Given the description of an element on the screen output the (x, y) to click on. 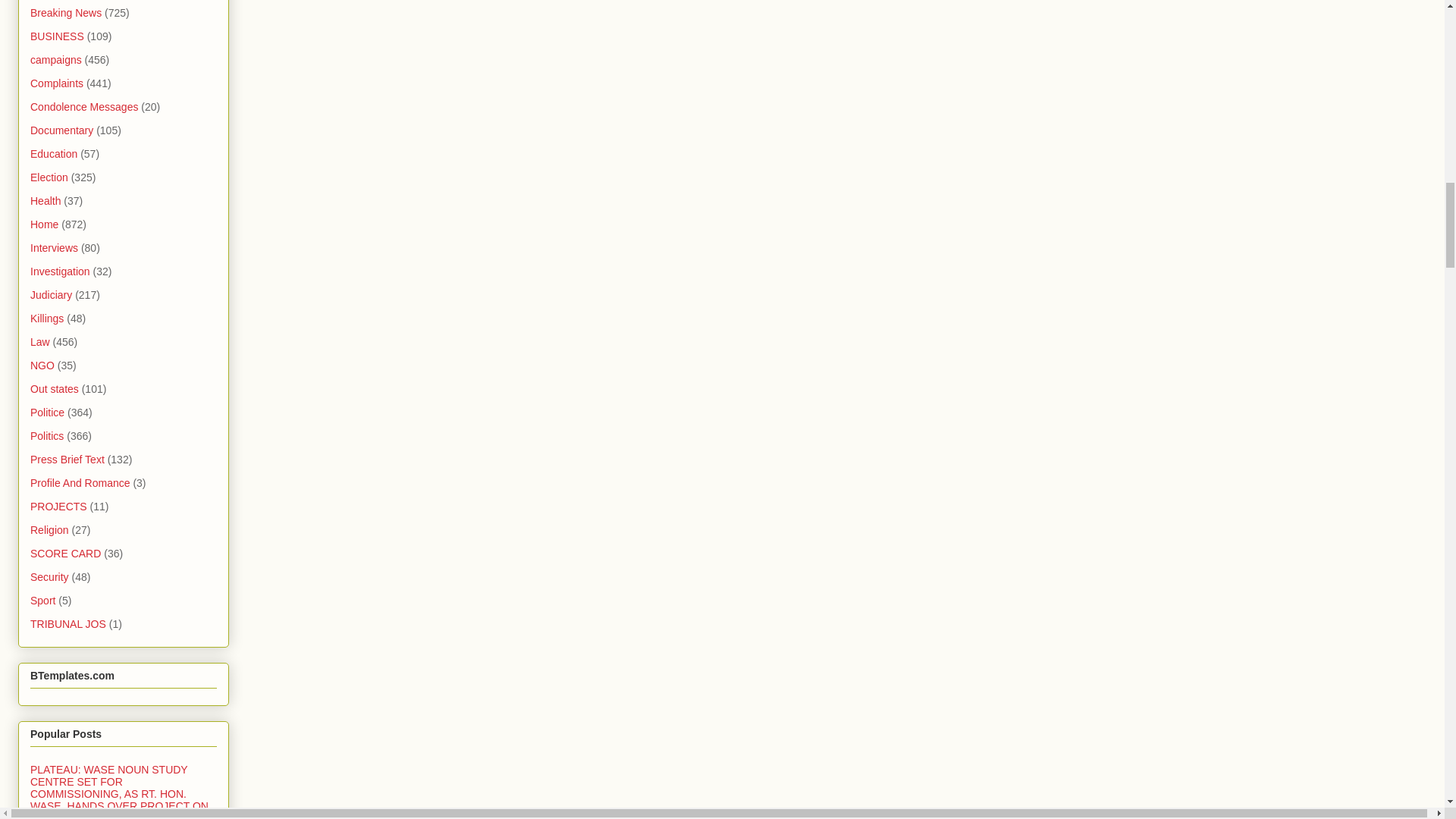
Election (49, 177)
Interviews (54, 247)
Education (53, 153)
Condolence Messages (84, 106)
Home (44, 224)
BUSINESS (57, 36)
NGO (42, 365)
Documentary (61, 130)
Breaking News (65, 12)
campaigns (55, 60)
Investigation (60, 271)
Complaints (56, 82)
Killings (47, 318)
Health (45, 200)
Judiciary (50, 295)
